Given the description of an element on the screen output the (x, y) to click on. 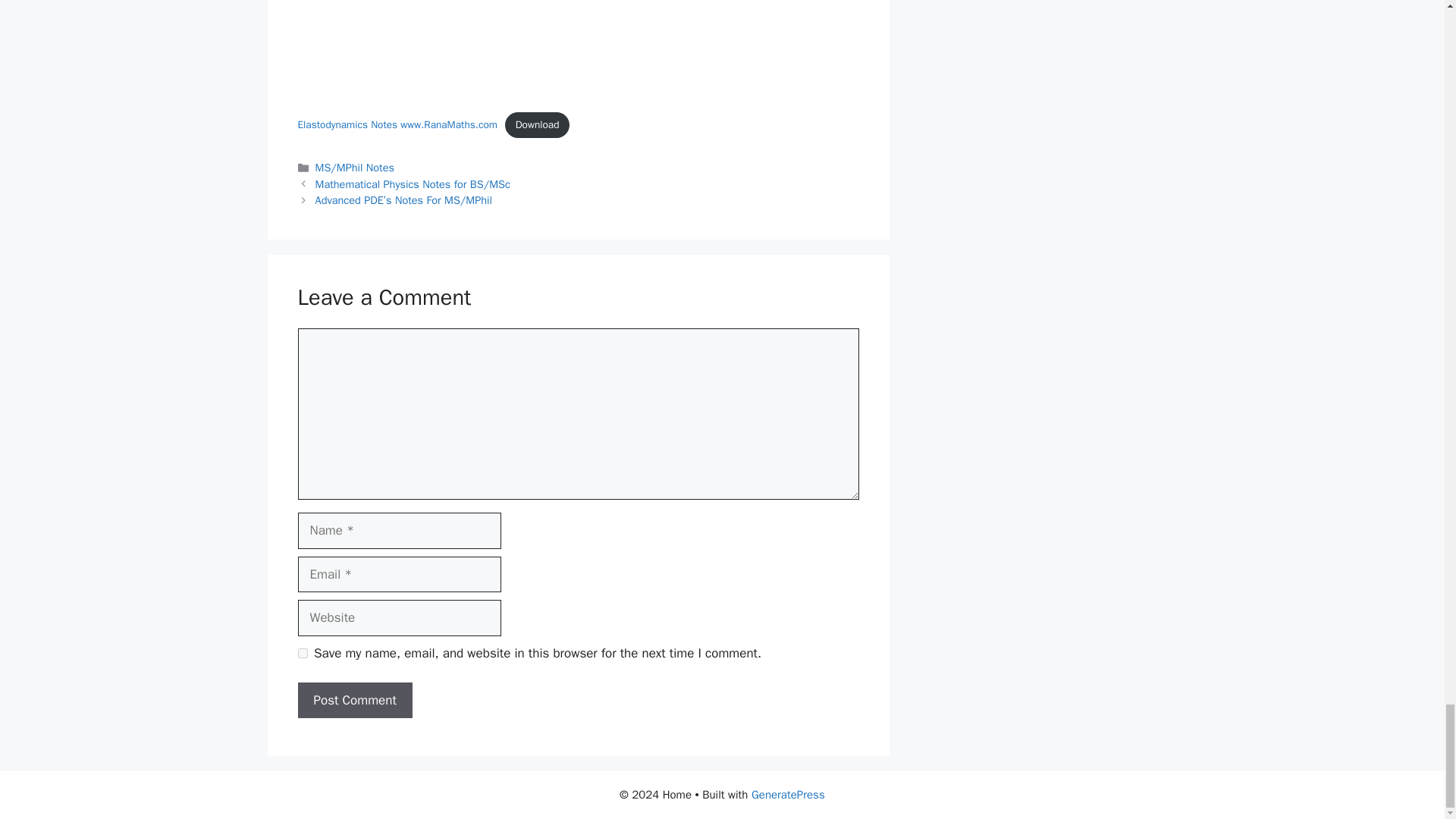
Post Comment (354, 700)
Download (537, 125)
Elastodynamics Notes www.RanaMaths.com (396, 124)
yes (302, 653)
Post Comment (354, 700)
